Given the description of an element on the screen output the (x, y) to click on. 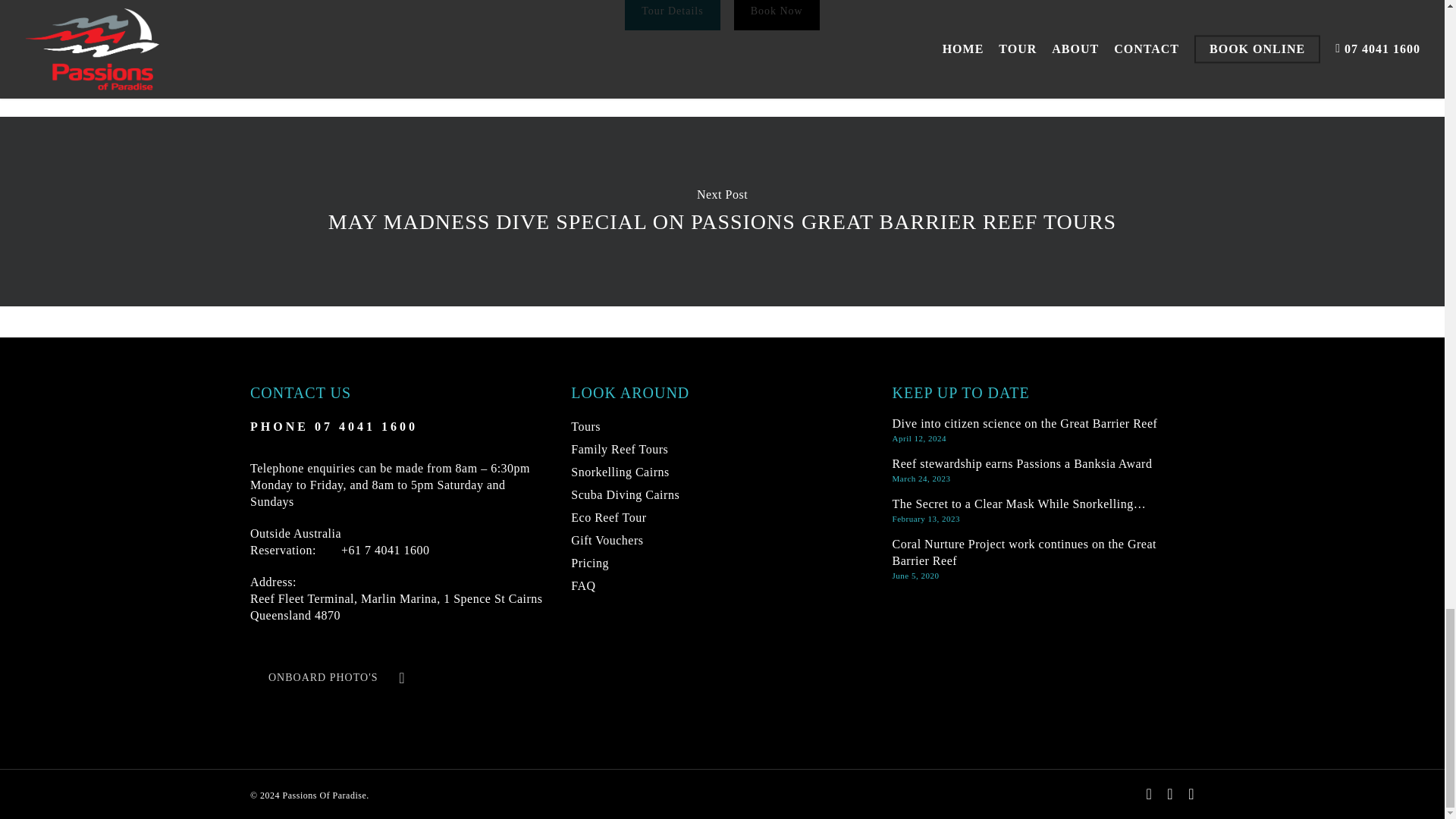
Tour Details (671, 15)
PHONE 07 4041 1600 (333, 426)
Book Now (295, 549)
